Given the description of an element on the screen output the (x, y) to click on. 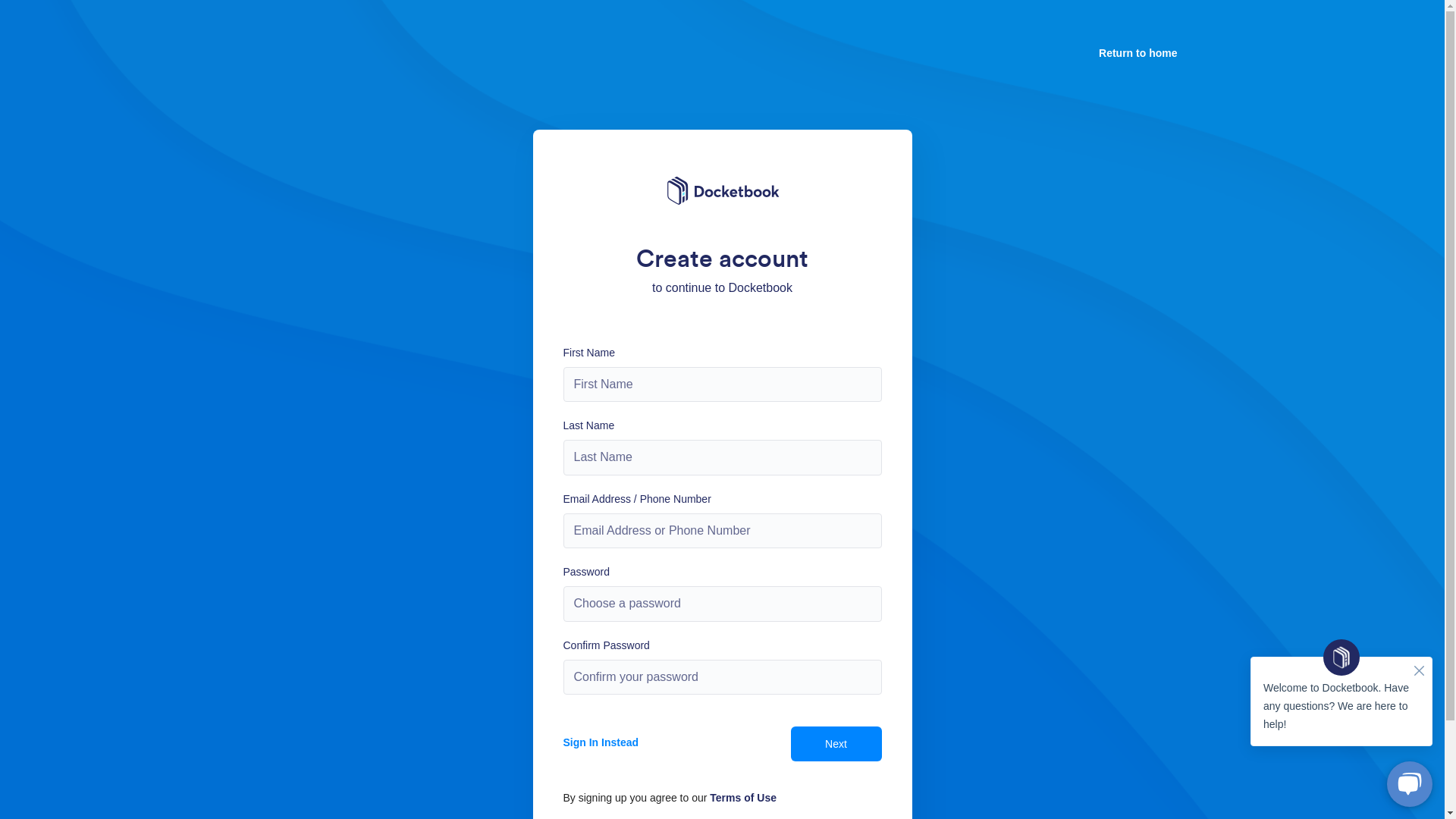
Sign In Instead Element type: text (638, 741)
Return to home Element type: text (1137, 53)
Terms of Use Element type: text (742, 797)
Next Element type: text (835, 743)
